Given the description of an element on the screen output the (x, y) to click on. 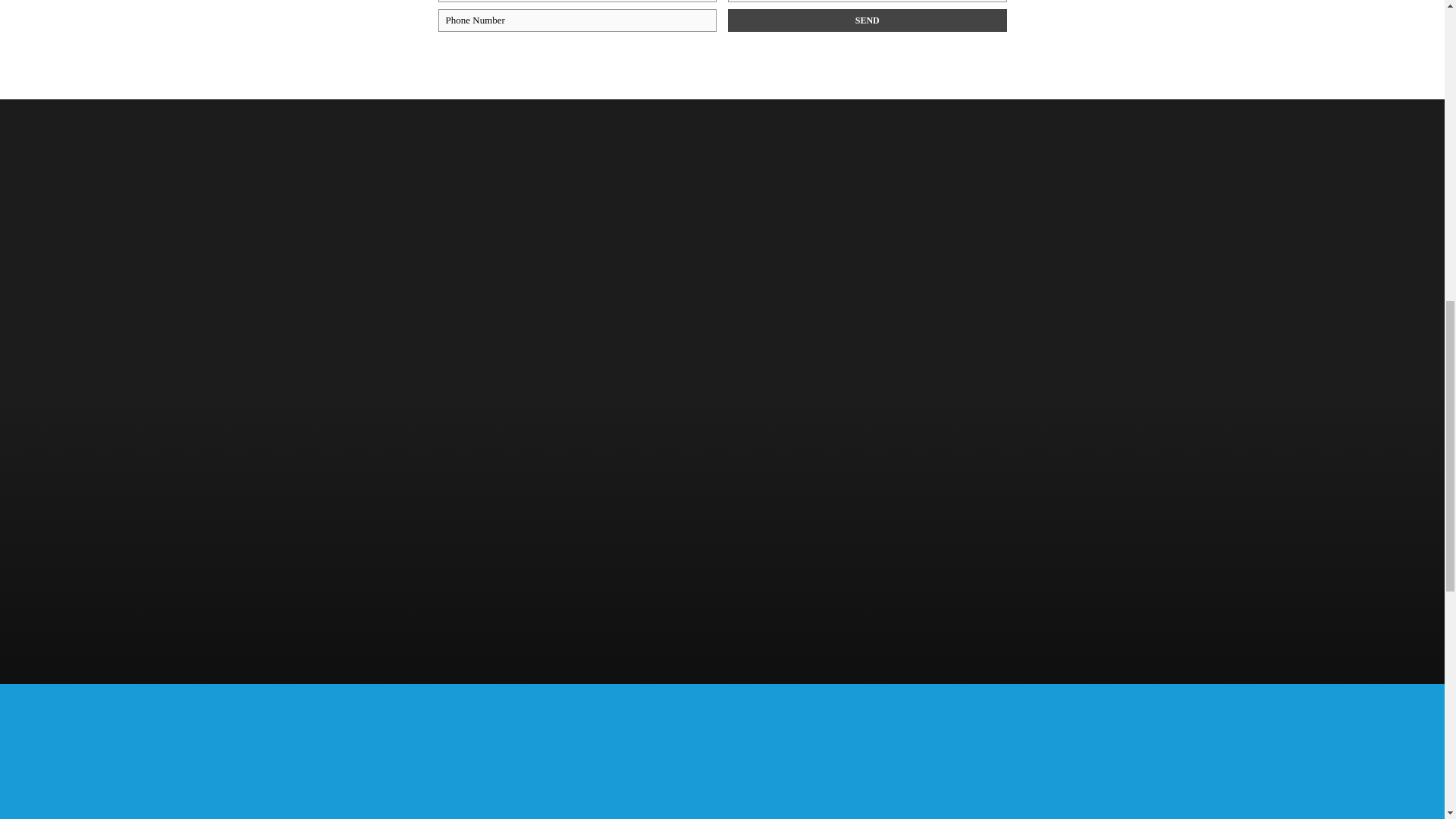
Send (867, 20)
